Given the description of an element on the screen output the (x, y) to click on. 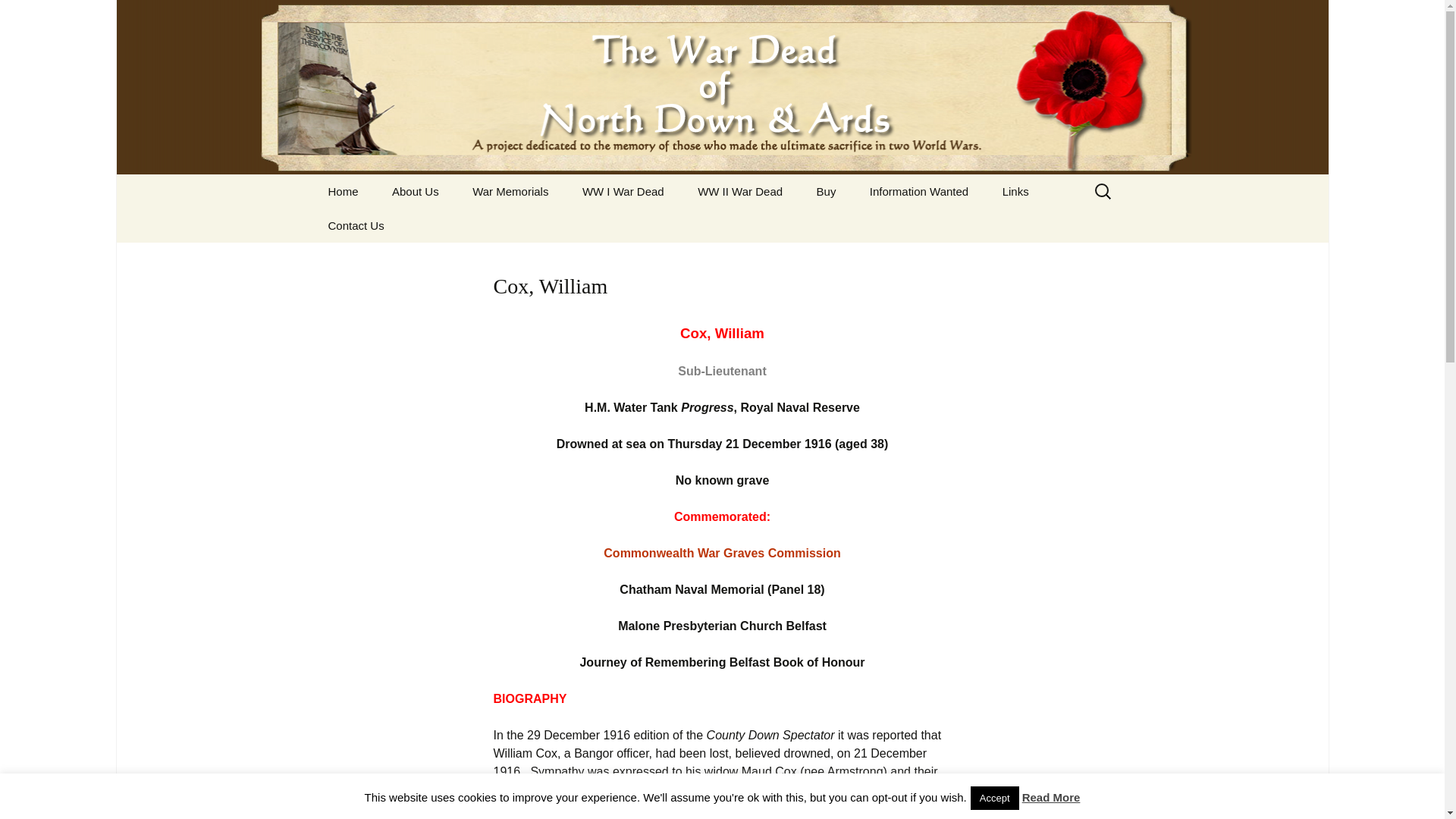
About Us (415, 191)
Home (342, 191)
Contact Us (355, 225)
Tommy Dowdell (930, 225)
Accept (995, 797)
Search (18, 15)
Search (34, 15)
Buy (826, 191)
Commonwealth War Graves Commission (722, 553)
Read More (1051, 797)
WW II War Dead (739, 191)
Information Wanted (919, 191)
WW I War Dead (623, 191)
